Given the description of an element on the screen output the (x, y) to click on. 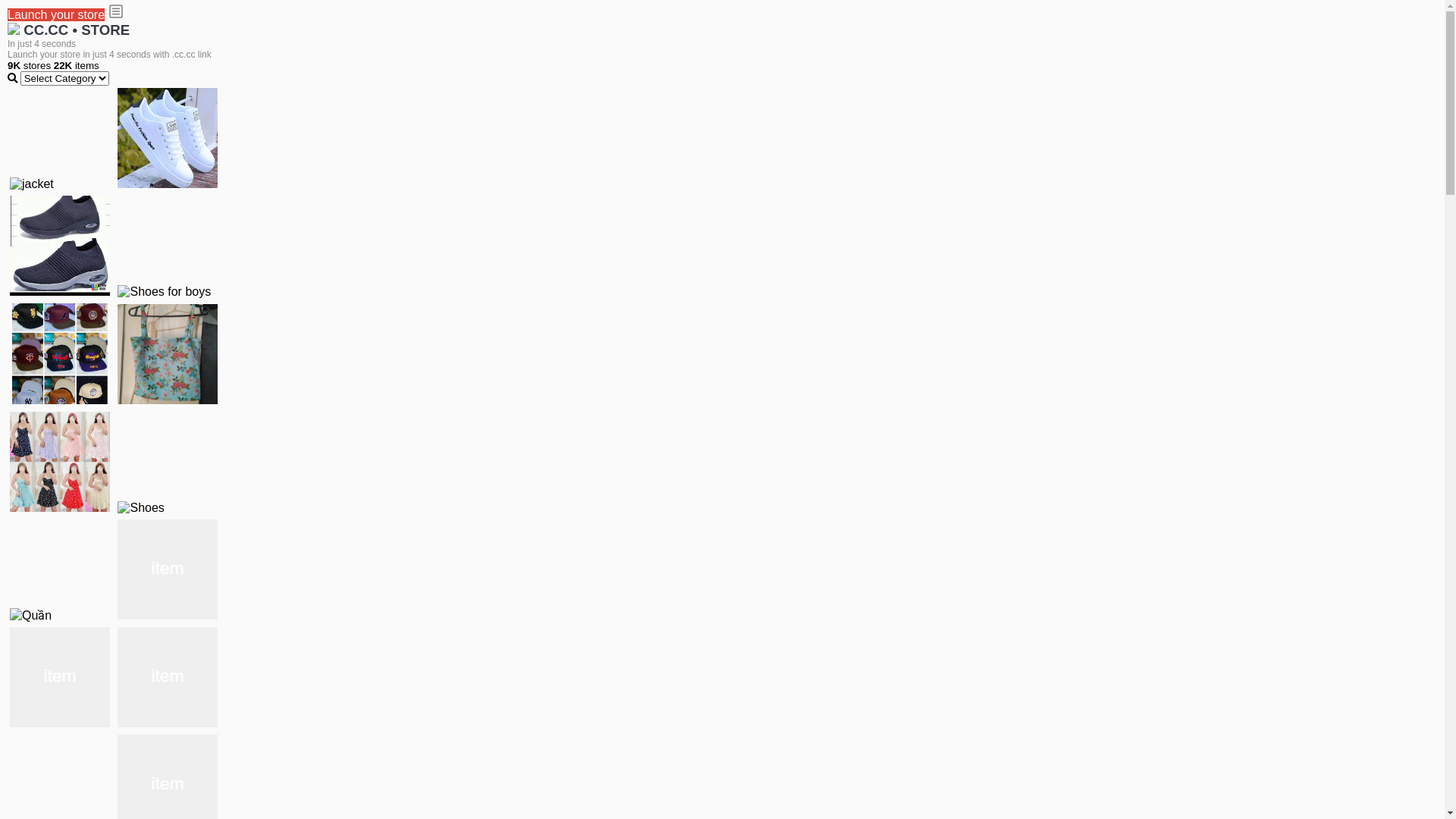
jacket Element type: hover (31, 184)
Ukay cloth Element type: hover (167, 353)
Shoes Element type: hover (140, 507)
shoes for boys Element type: hover (59, 245)
Zapatillas Element type: hover (59, 676)
Things we need Element type: hover (59, 353)
Launch your store Element type: text (55, 14)
white shoes Element type: hover (167, 137)
Shoes for boys Element type: hover (163, 291)
Dress/square nect top Element type: hover (59, 461)
Zapatillas pumas Element type: hover (167, 568)
Short pant Element type: hover (167, 676)
